Given the description of an element on the screen output the (x, y) to click on. 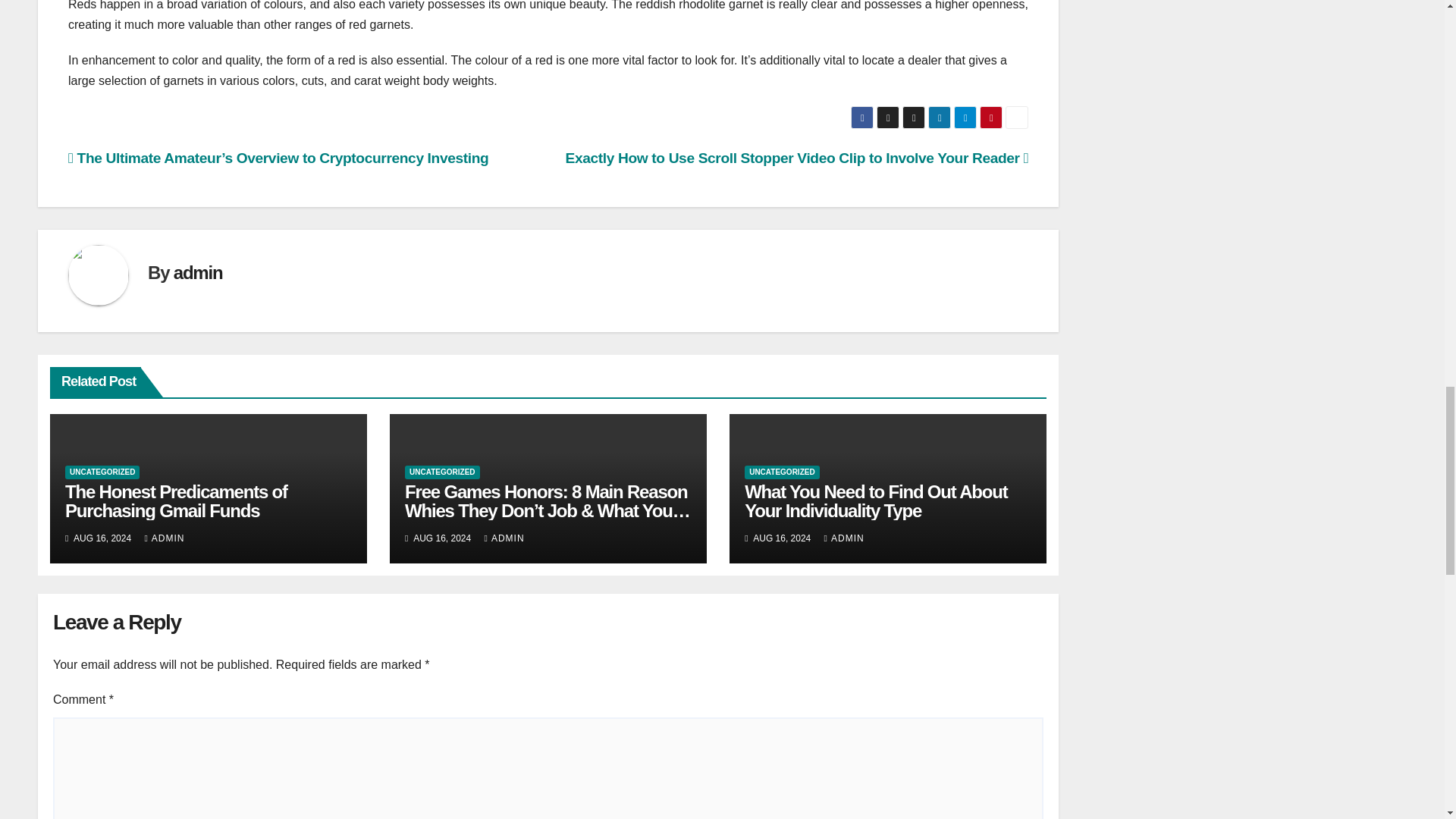
What You Need to Find Out About Your Individuality Type (875, 500)
UNCATEGORIZED (781, 472)
ADMIN (164, 538)
admin (197, 272)
ADMIN (504, 538)
UNCATEGORIZED (102, 472)
UNCATEGORIZED (441, 472)
The Honest Predicaments of Purchasing Gmail Funds (175, 500)
